Given the description of an element on the screen output the (x, y) to click on. 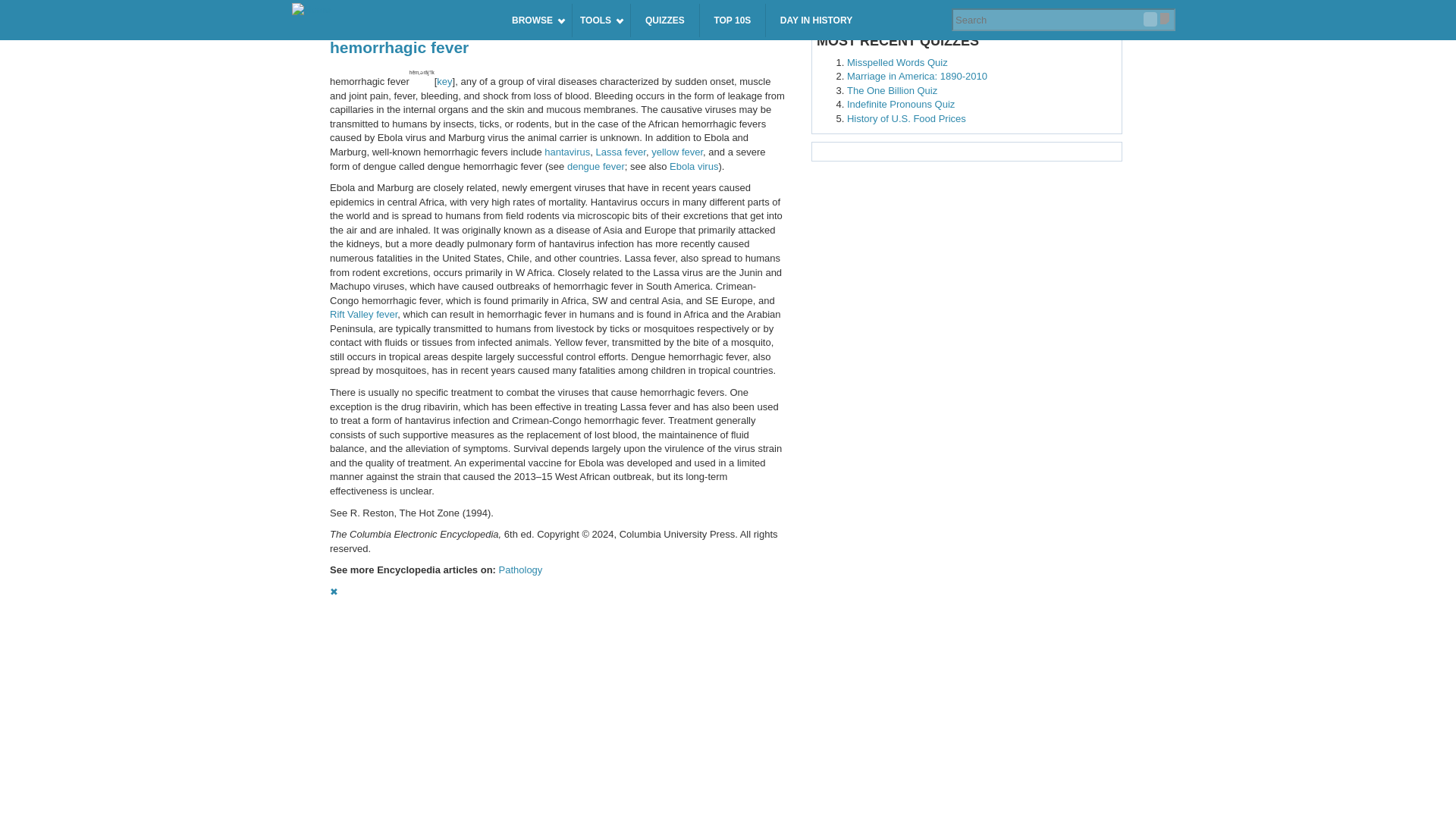
Home (392, 11)
Search (1149, 19)
